Given the description of an element on the screen output the (x, y) to click on. 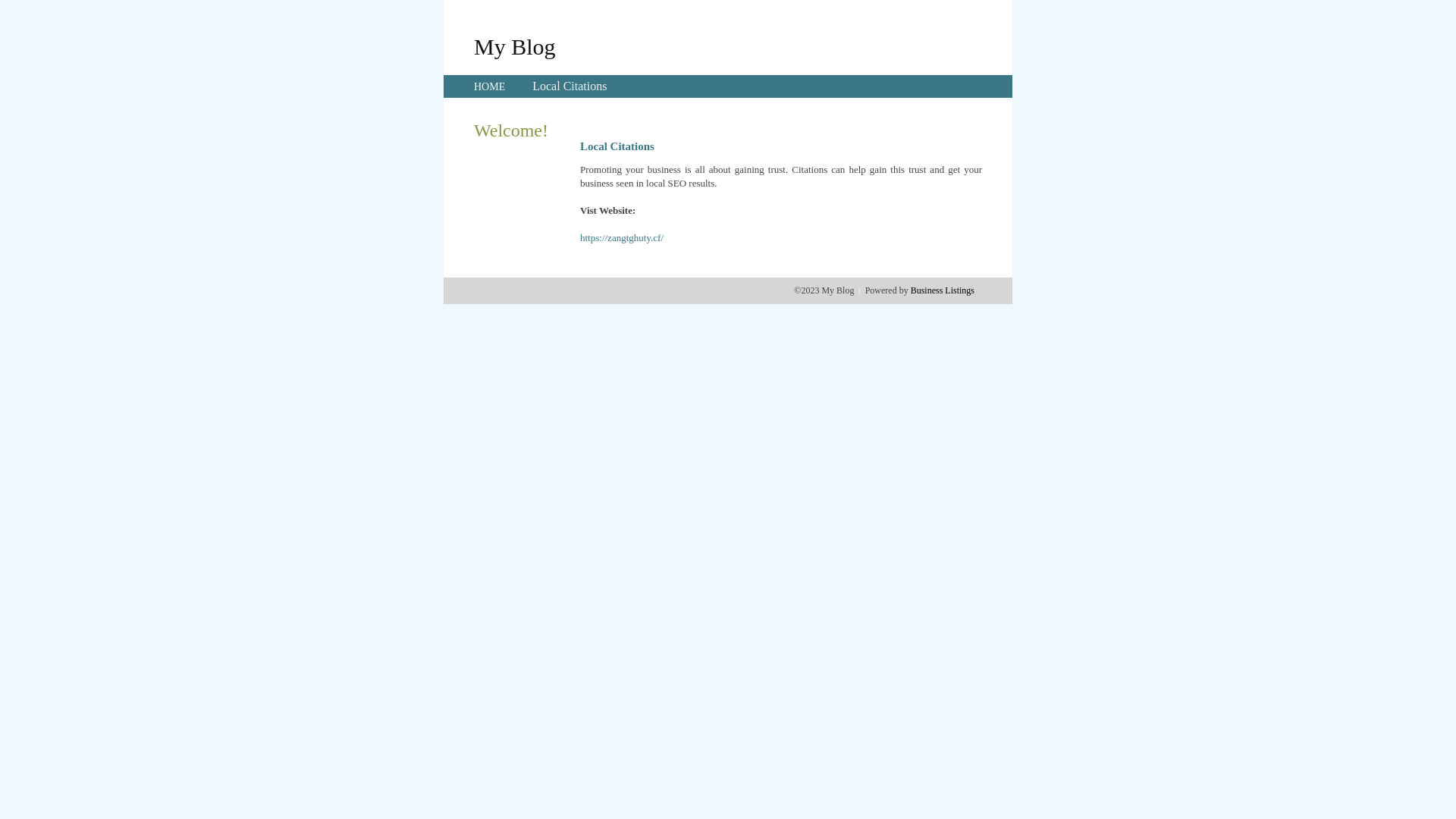
Business Listings Element type: text (942, 290)
HOME Element type: text (489, 86)
My Blog Element type: text (514, 46)
https://zangtghuty.cf/ Element type: text (621, 237)
Local Citations Element type: text (569, 85)
